Given the description of an element on the screen output the (x, y) to click on. 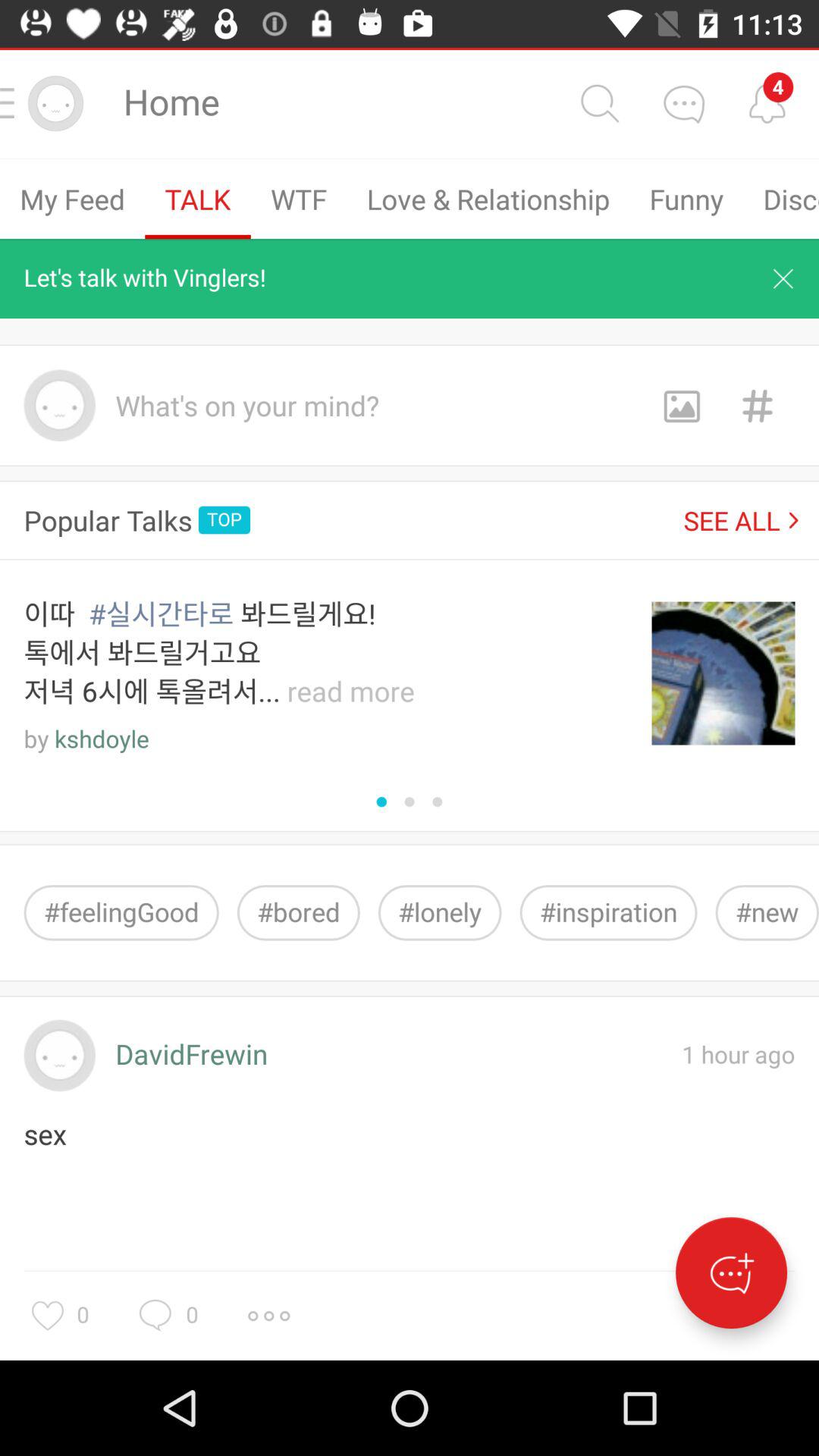
click icon to the left of 1 hour ago icon (191, 1055)
